Given the description of an element on the screen output the (x, y) to click on. 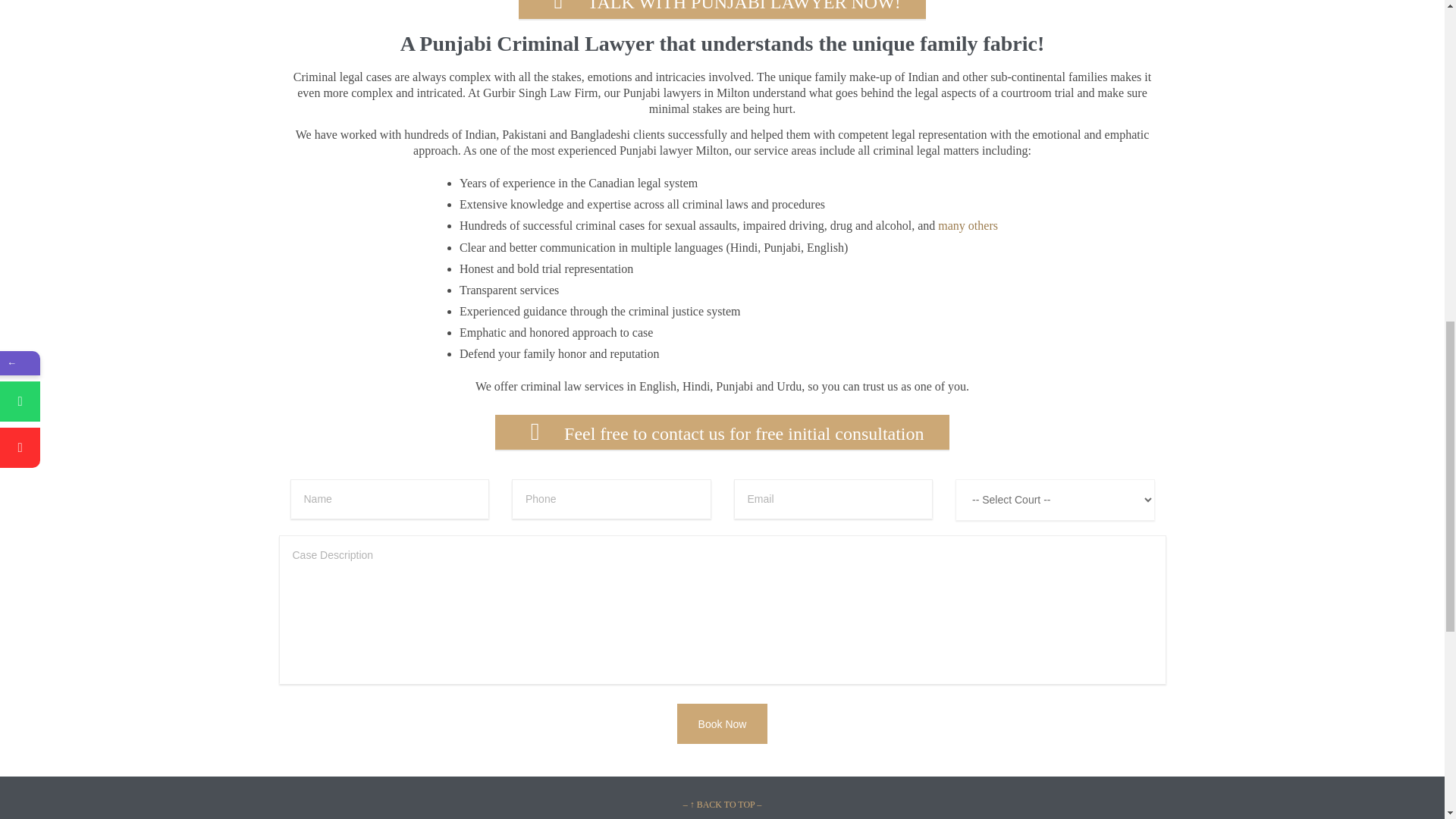
many others (967, 225)
Book Now (722, 722)
Book Now (722, 722)
